Given the description of an element on the screen output the (x, y) to click on. 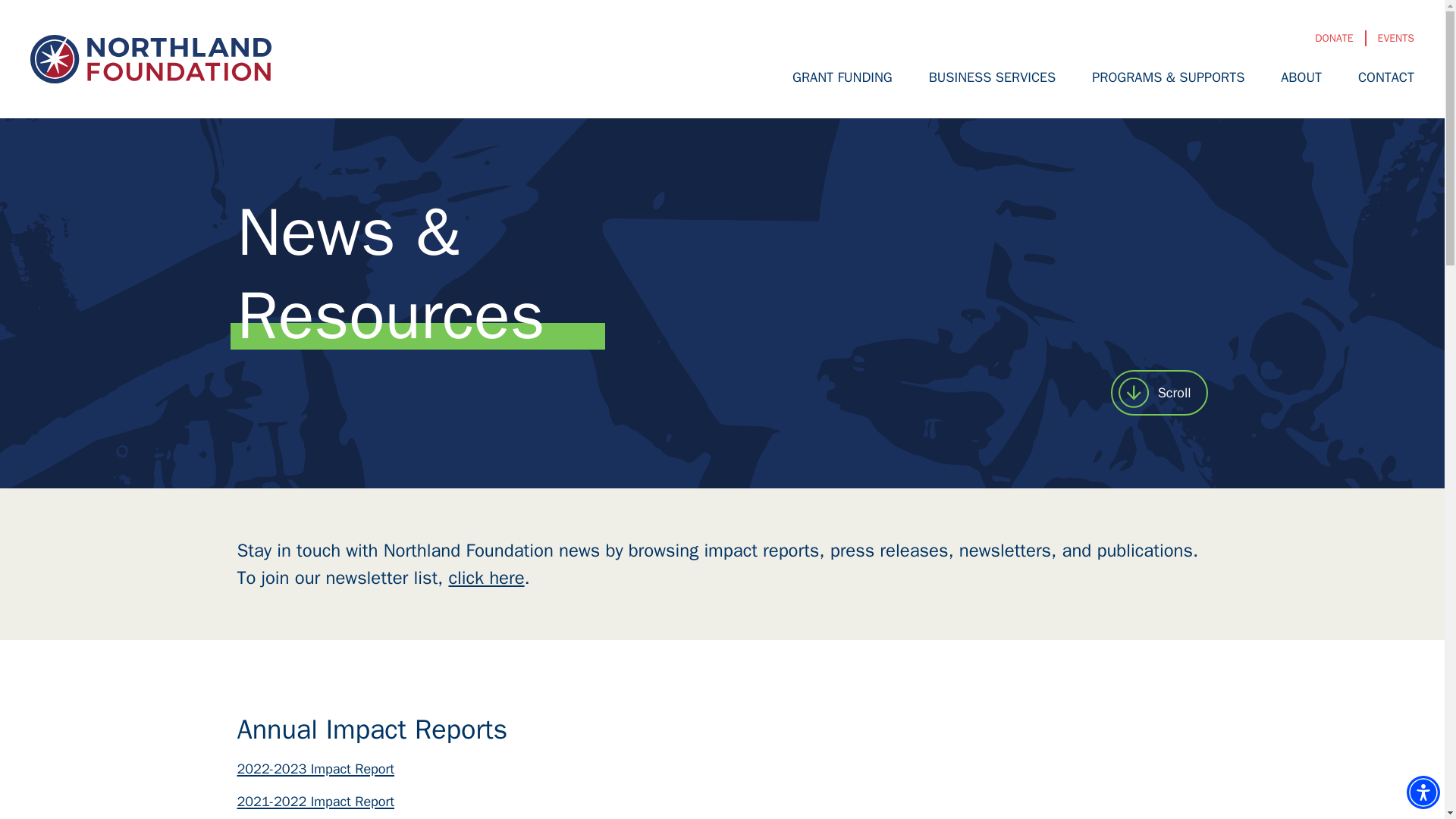
2022-2023 Impact Report (314, 768)
Scroll (1159, 392)
Accessibility Menu (1422, 792)
EVENTS (1395, 38)
GRANT FUNDING (842, 76)
CONTACT (1385, 76)
DONATE (1333, 38)
click here (486, 577)
Scroll (1159, 392)
ABOUT (1301, 76)
2021-2022 Impact Report (314, 801)
BUSINESS SERVICES (992, 76)
